Given the description of an element on the screen output the (x, y) to click on. 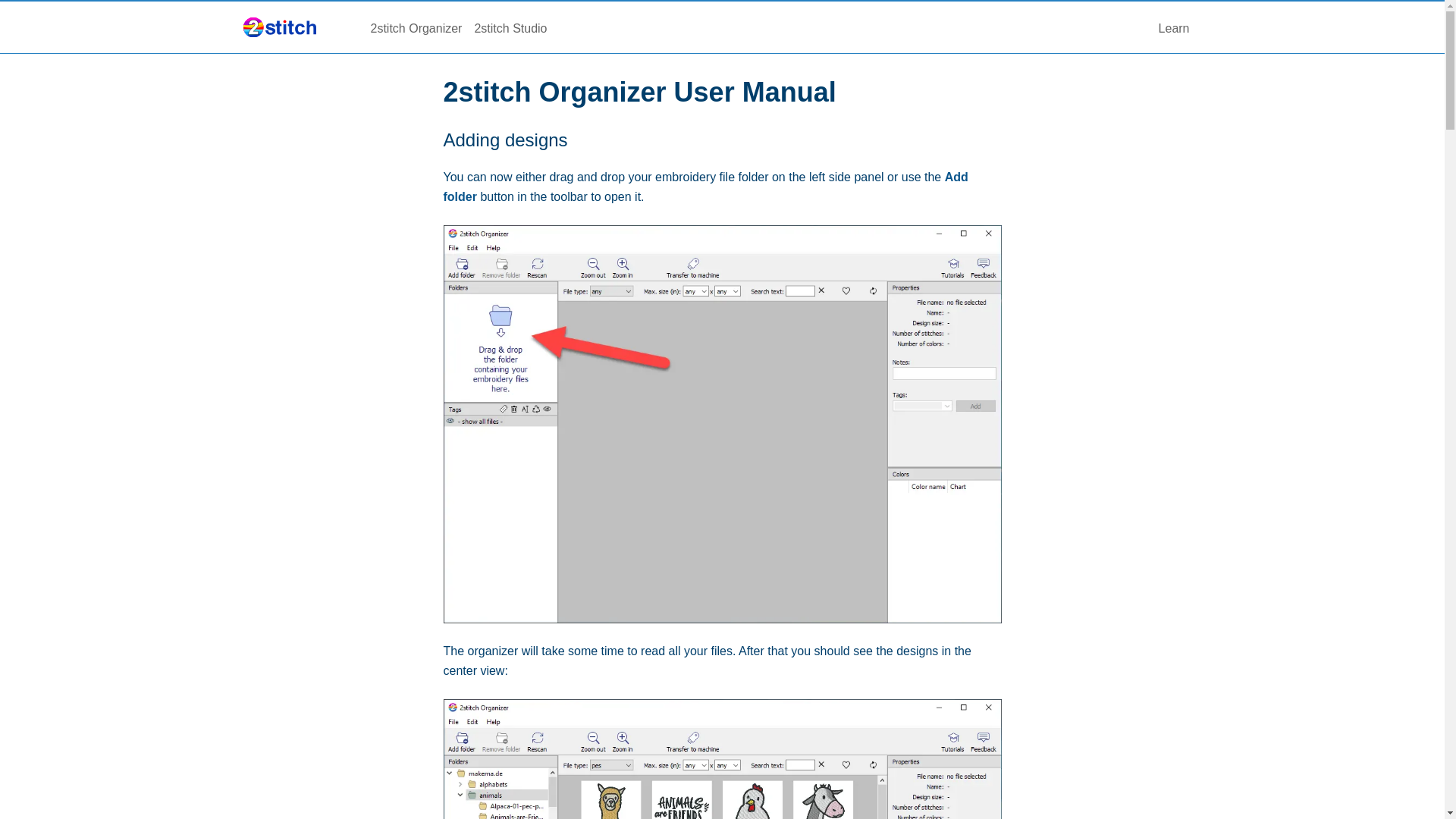
How to import embroidery files into 2stitch Organizer Element type: hover (721, 424)
2stitch Studio Element type: text (509, 27)
Learn Element type: text (1173, 27)
2stitch Organizer Element type: text (415, 27)
